Given the description of an element on the screen output the (x, y) to click on. 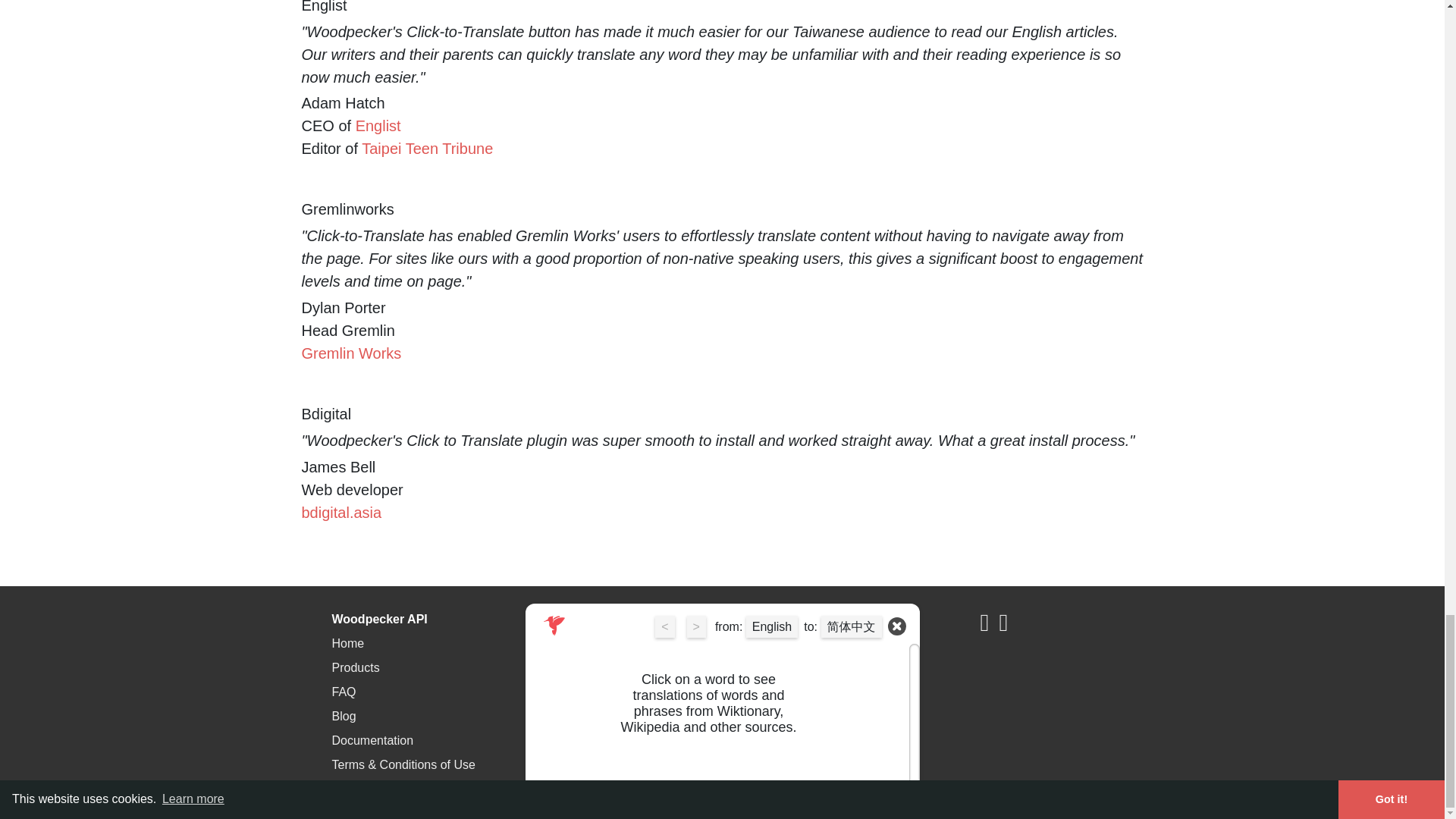
Documentation (372, 739)
Create Account (588, 691)
Products (355, 667)
Enter the Console (596, 643)
Home (348, 643)
Englist (378, 125)
Contact Us (577, 716)
Sign In (566, 667)
Taipei Teen Tribune (427, 148)
Woodpecker App (810, 643)
Blog (343, 716)
FAQ (343, 691)
Gremlin Works (351, 352)
About Woodpecker Learning (841, 667)
bdigital.asia (341, 512)
